Given the description of an element on the screen output the (x, y) to click on. 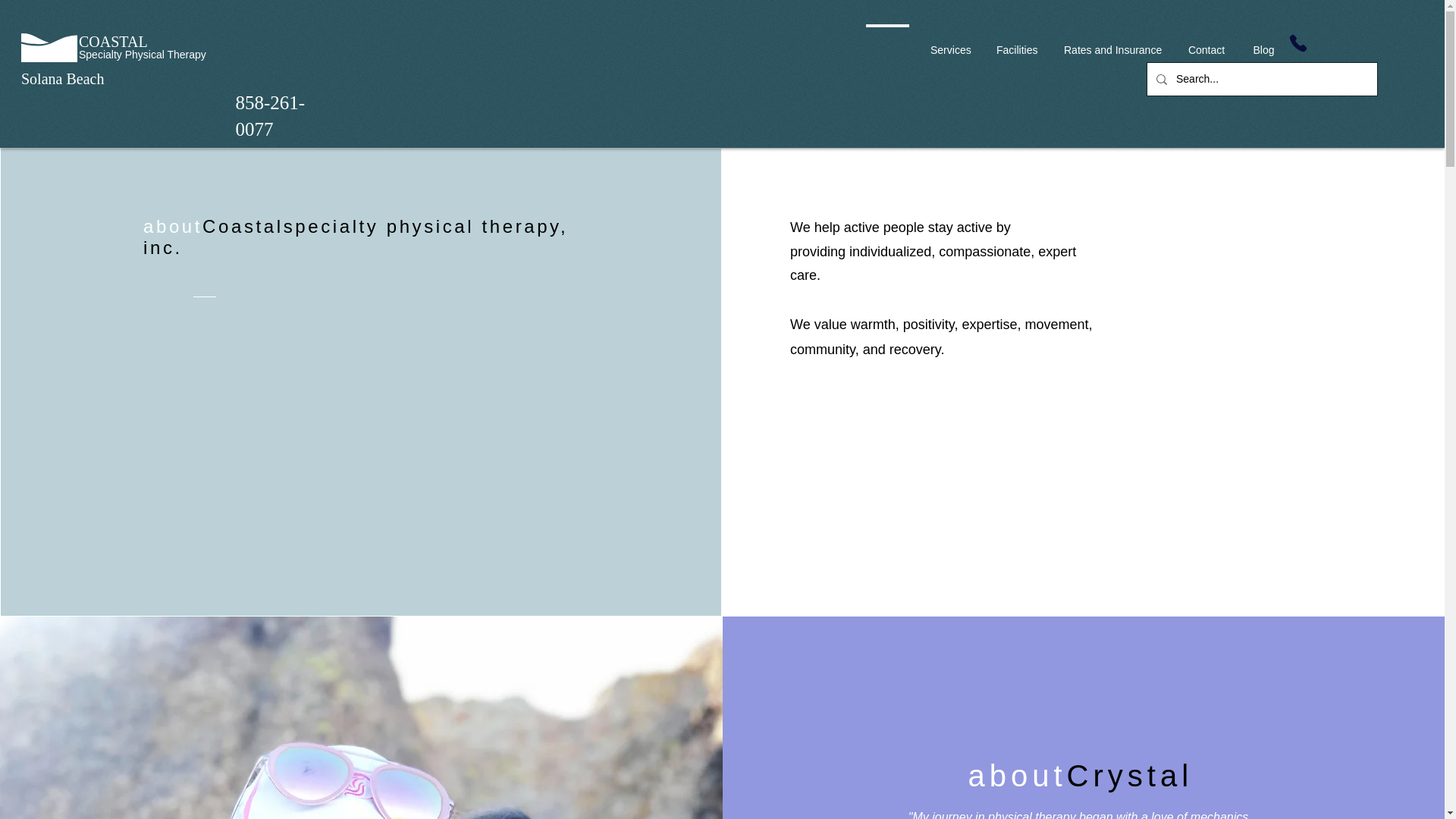
Rates and Insurance (1111, 43)
Contact (1206, 43)
Services (949, 43)
COASTAL (113, 41)
Blog (1263, 43)
858-261-0077 (269, 115)
About (888, 43)
Facilities (1015, 43)
Specialty Physical Therapy (142, 54)
